Given the description of an element on the screen output the (x, y) to click on. 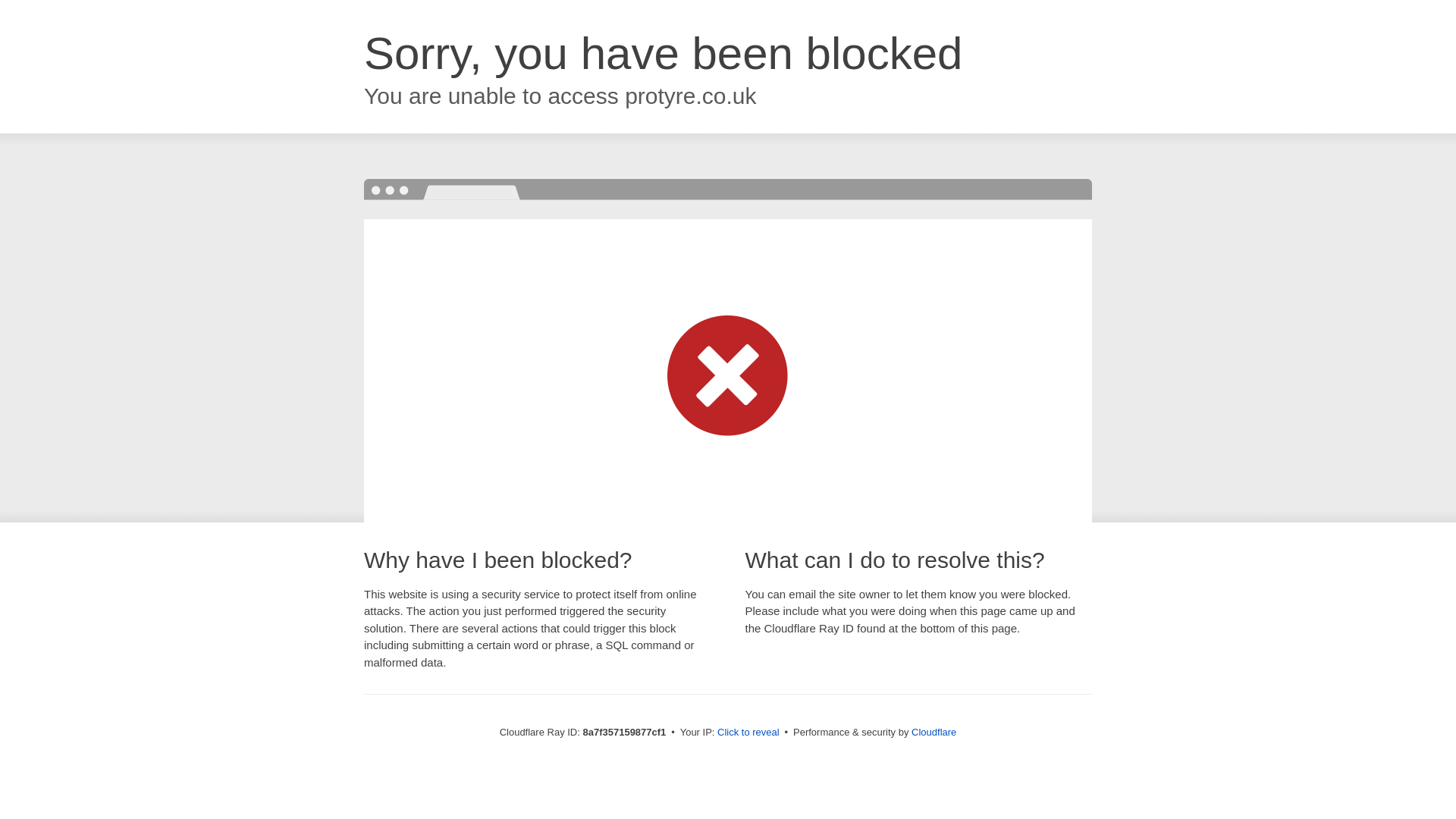
Click to reveal (747, 732)
Cloudflare (933, 731)
